Given the description of an element on the screen output the (x, y) to click on. 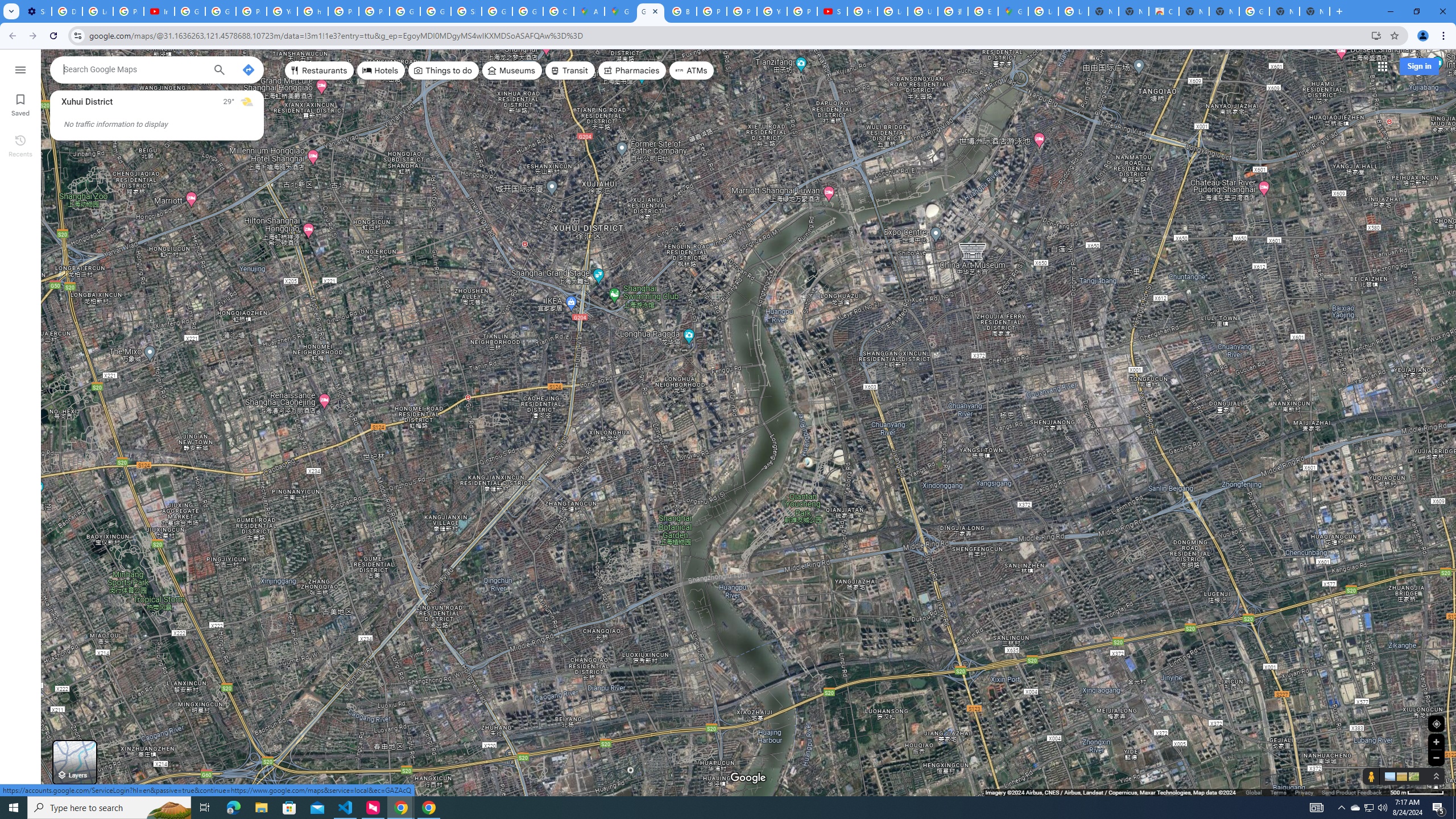
Show Your Location (1436, 723)
Subscriptions - YouTube (832, 11)
Settings - Customize profile (36, 11)
Recents (20, 145)
Search (218, 70)
Layers (74, 762)
Explore new street-level details - Google Maps Help (982, 11)
500 m (1417, 792)
Partly cloudy (246, 101)
